Given the description of an element on the screen output the (x, y) to click on. 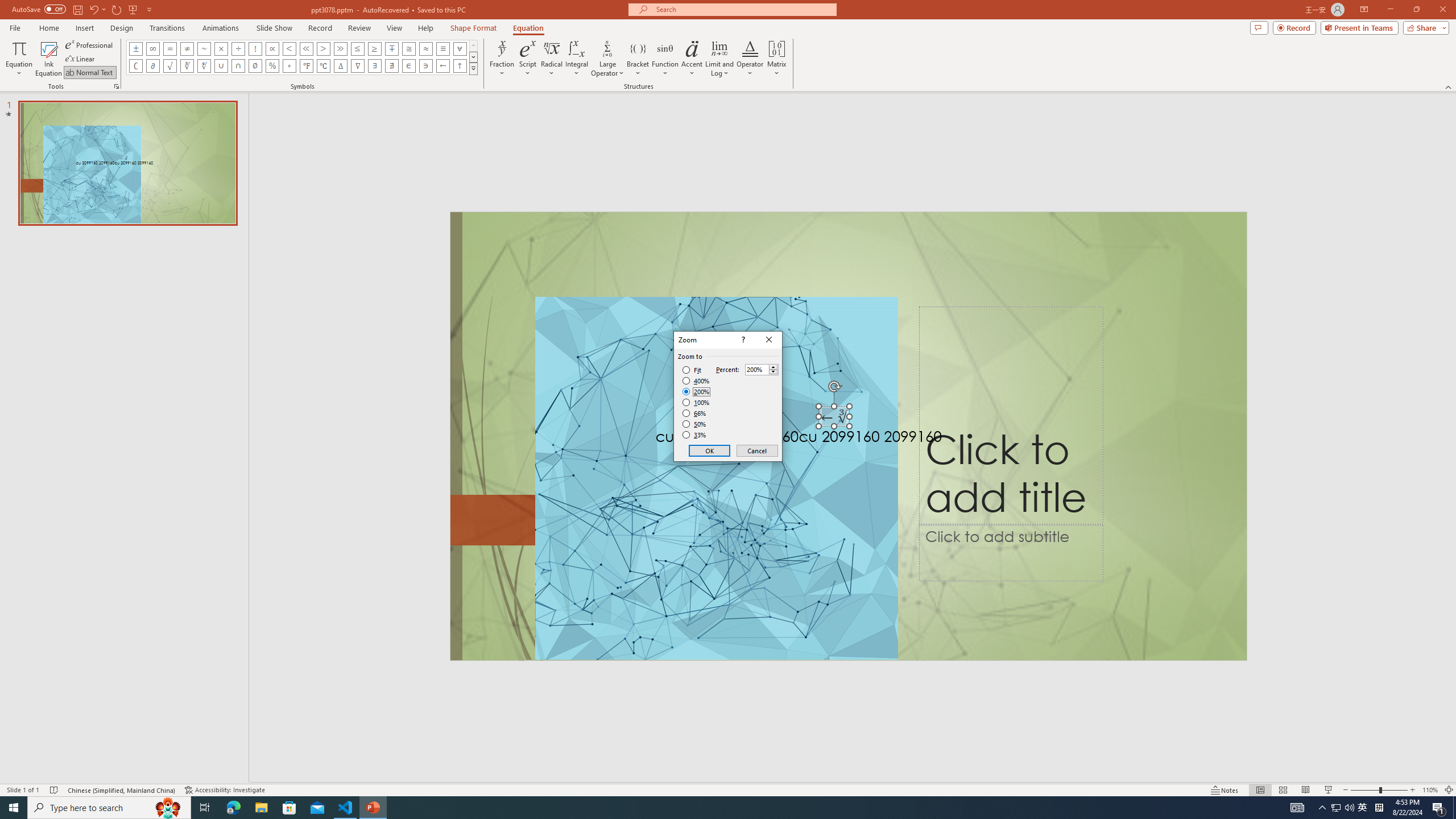
Equation Symbol Division Sign (238, 48)
Equation Symbol Much Greater Than (340, 48)
Bracket (638, 58)
Equation Symbol Almost Equal To (Asymptotic To) (425, 48)
Equation (528, 28)
Integral (576, 58)
